Given the description of an element on the screen output the (x, y) to click on. 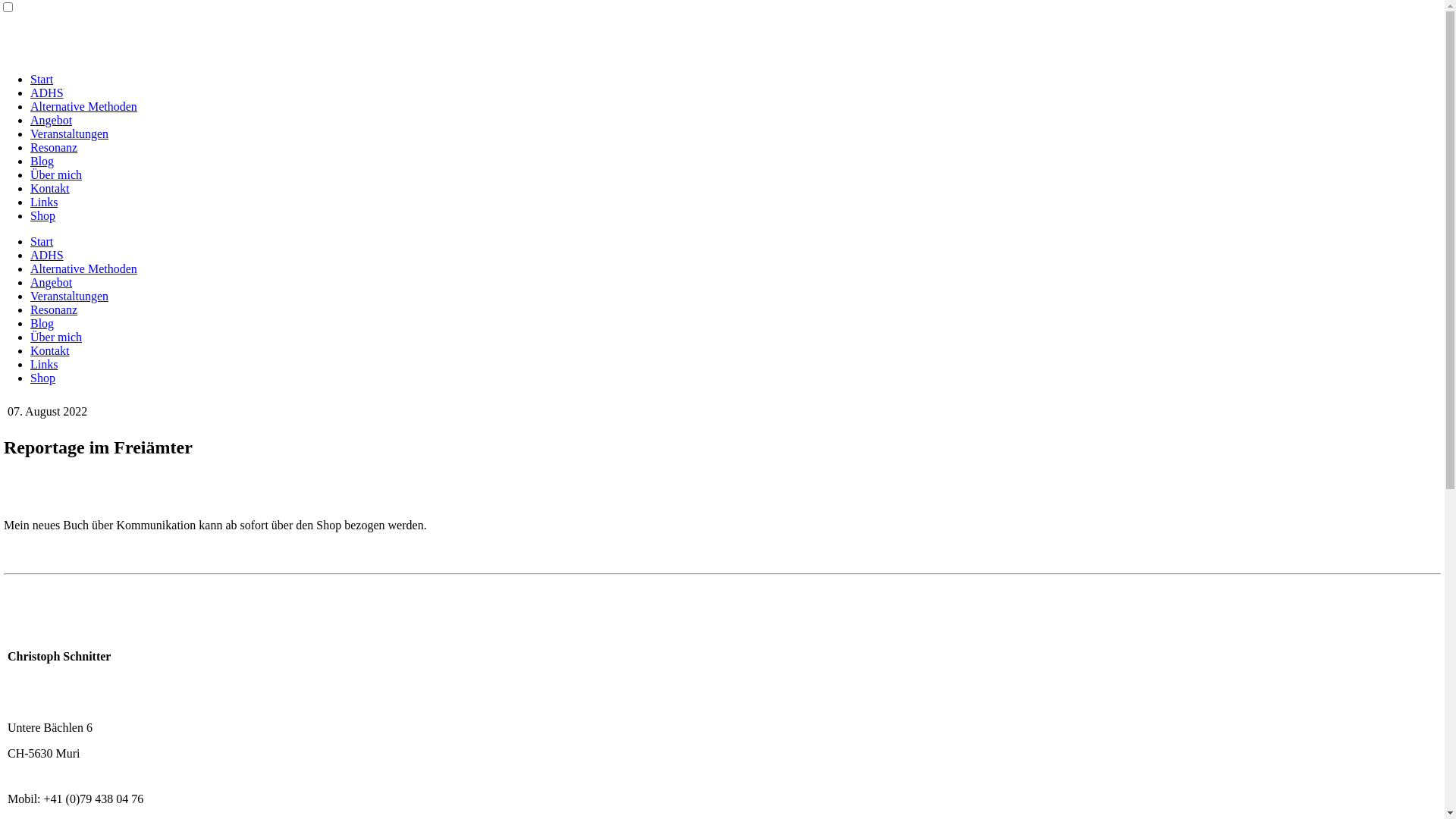
ADHS Element type: text (46, 254)
Alternative Methoden Element type: text (83, 106)
Veranstaltungen Element type: text (69, 133)
Angebot Element type: text (51, 282)
Links Element type: text (43, 201)
ADHS Element type: text (46, 92)
Links Element type: text (43, 363)
Resonanz Element type: text (53, 309)
Kontakt Element type: text (49, 350)
Alternative Methoden Element type: text (83, 268)
Start Element type: text (41, 241)
Blog Element type: text (41, 160)
Angebot Element type: text (51, 119)
Kontakt Element type: text (49, 188)
Veranstaltungen Element type: text (69, 295)
Start Element type: text (41, 78)
Shop Element type: text (42, 215)
Shop Element type: text (42, 377)
Resonanz Element type: text (53, 147)
Blog Element type: text (41, 322)
